Given the description of an element on the screen output the (x, y) to click on. 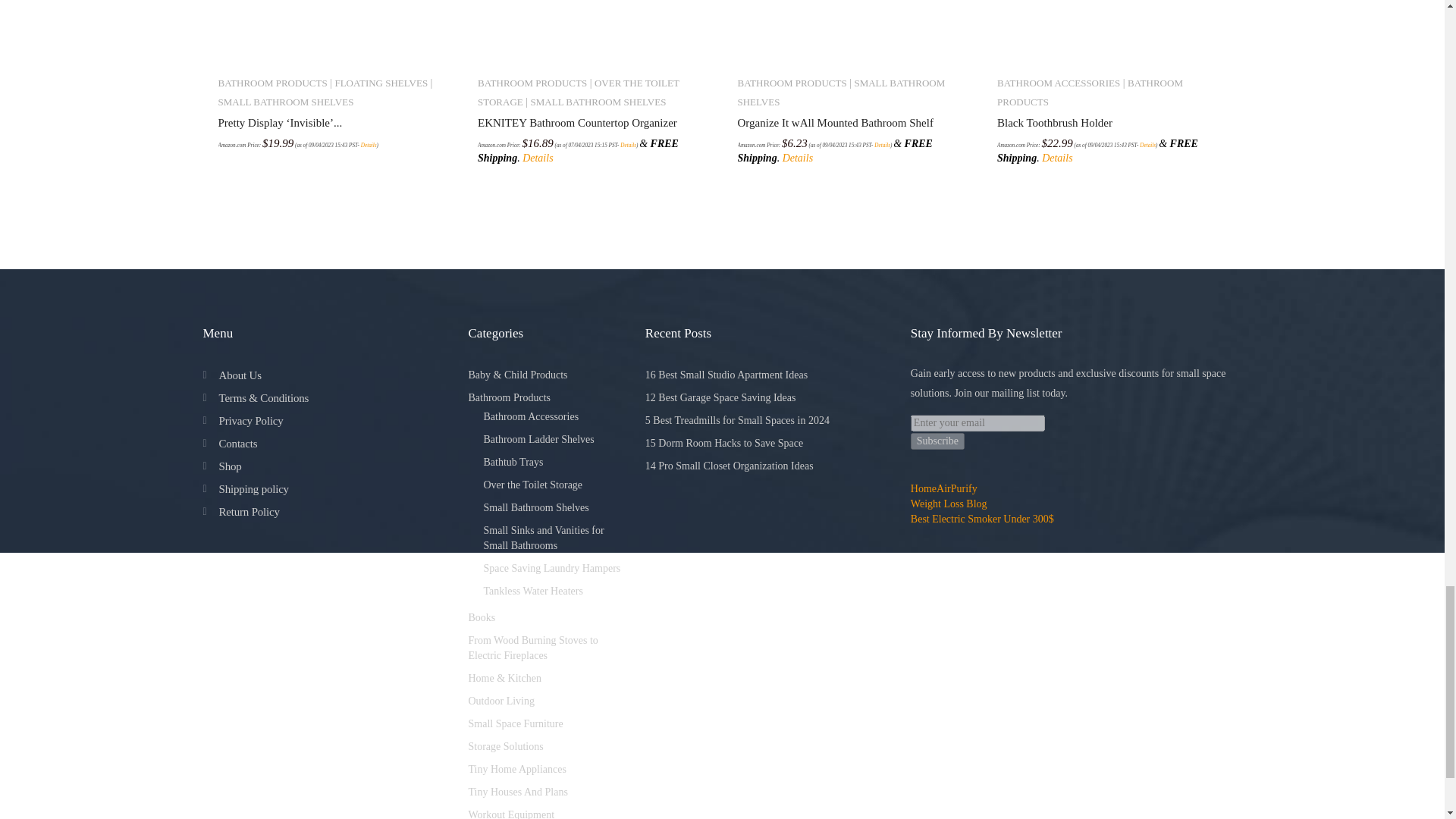
Subscribe (937, 441)
